Given the description of an element on the screen output the (x, y) to click on. 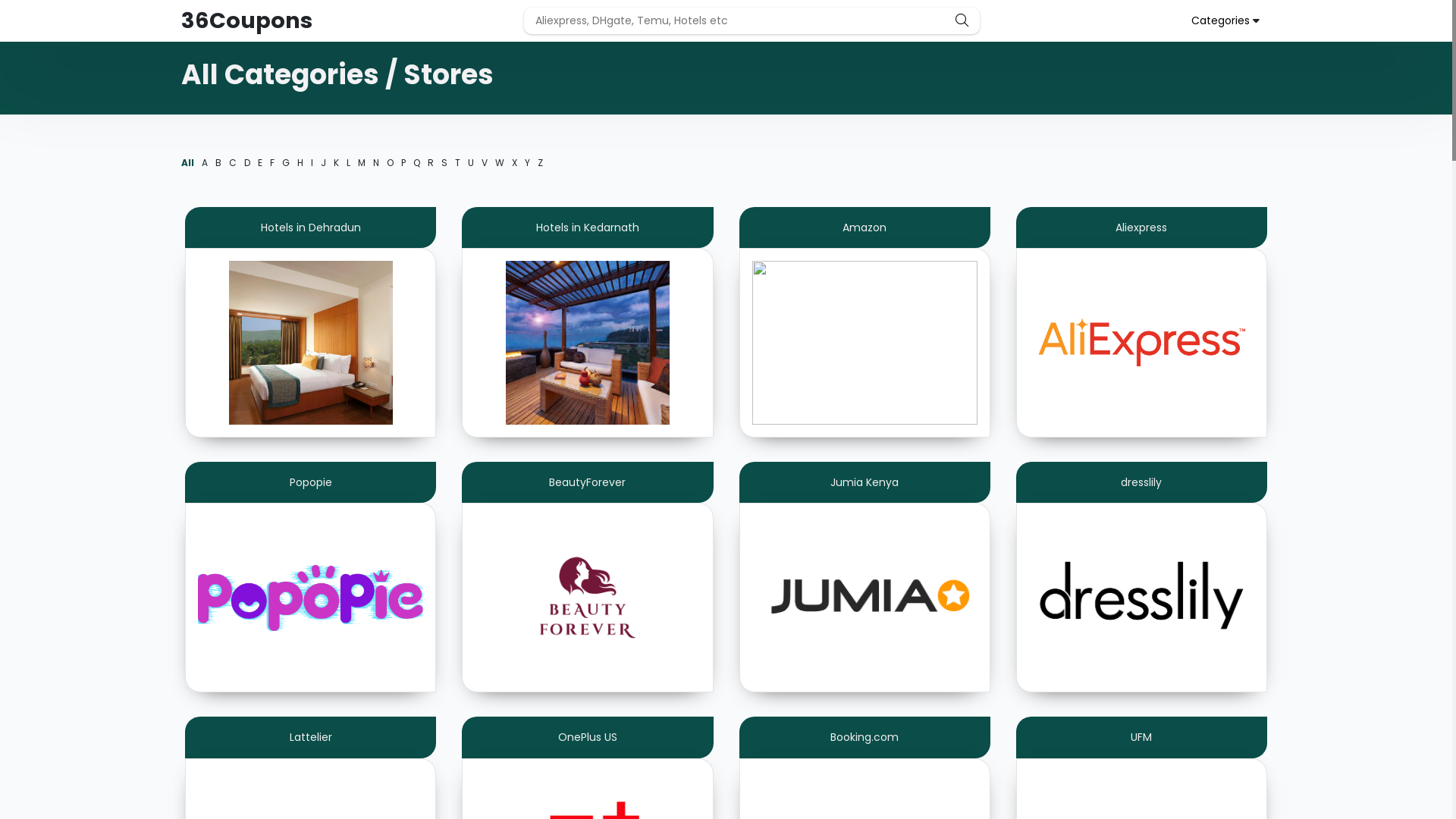
Hotels in Kedarnath Element type: text (586, 322)
Jumia Kenya Element type: text (863, 576)
Hotels in Dehradun Element type: text (310, 322)
Popopie Element type: text (310, 576)
Aliexpress Element type: text (1141, 322)
Amazon Element type: text (863, 322)
36Coupons Element type: text (246, 20)
dresslily Element type: text (1141, 576)
Categories Element type: text (1220, 20)
BeautyForever Element type: text (586, 576)
